Given the description of an element on the screen output the (x, y) to click on. 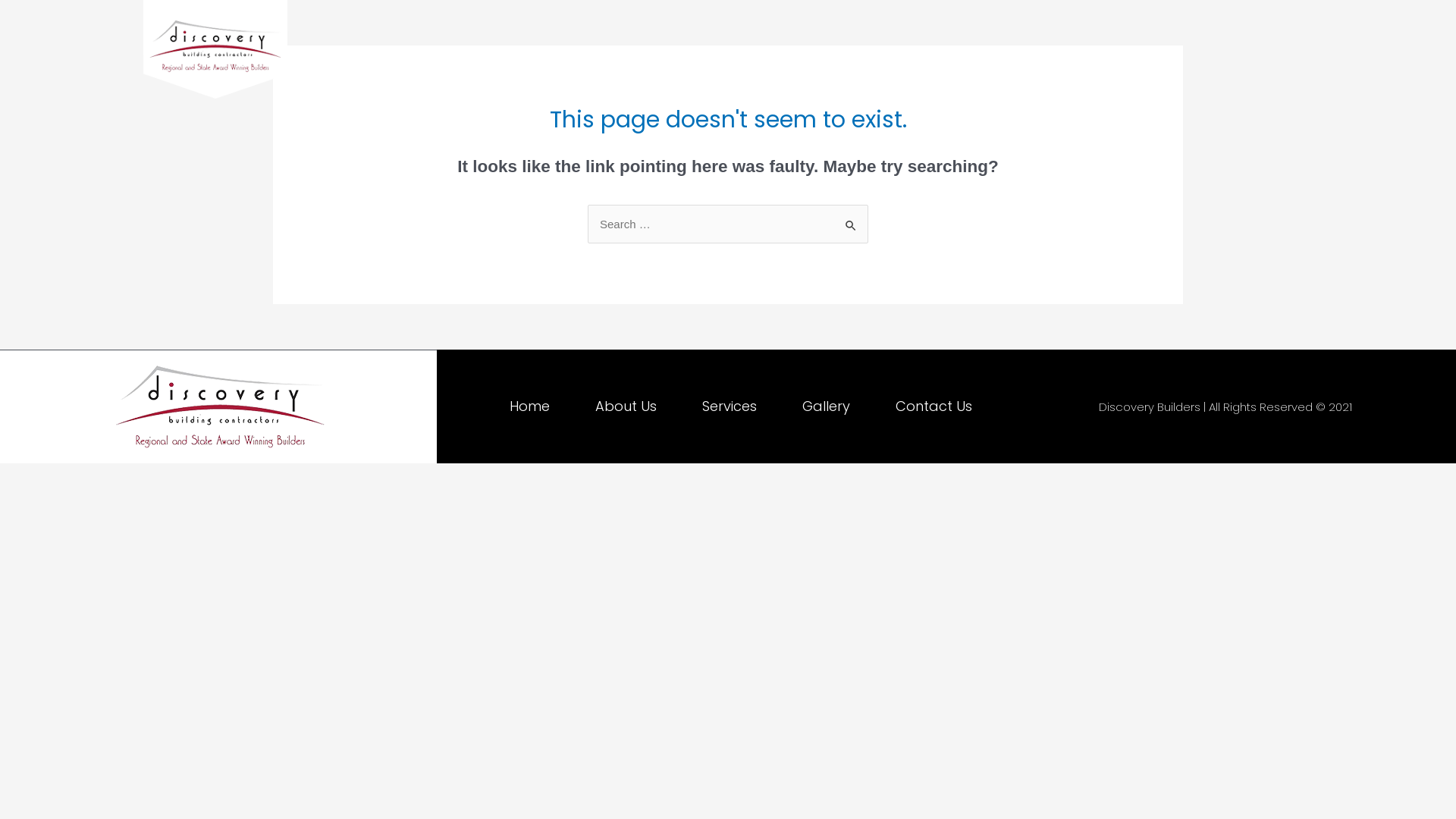
Contact Us Element type: text (933, 406)
Contact Us Element type: text (1110, 52)
About Us Element type: text (839, 52)
Gallery Element type: text (1015, 52)
Gallery Element type: text (826, 406)
Home Element type: text (757, 52)
Services Element type: text (930, 52)
About Us Element type: text (625, 406)
Services Element type: text (729, 406)
Search Element type: text (851, 219)
Home Element type: text (529, 406)
